Given the description of an element on the screen output the (x, y) to click on. 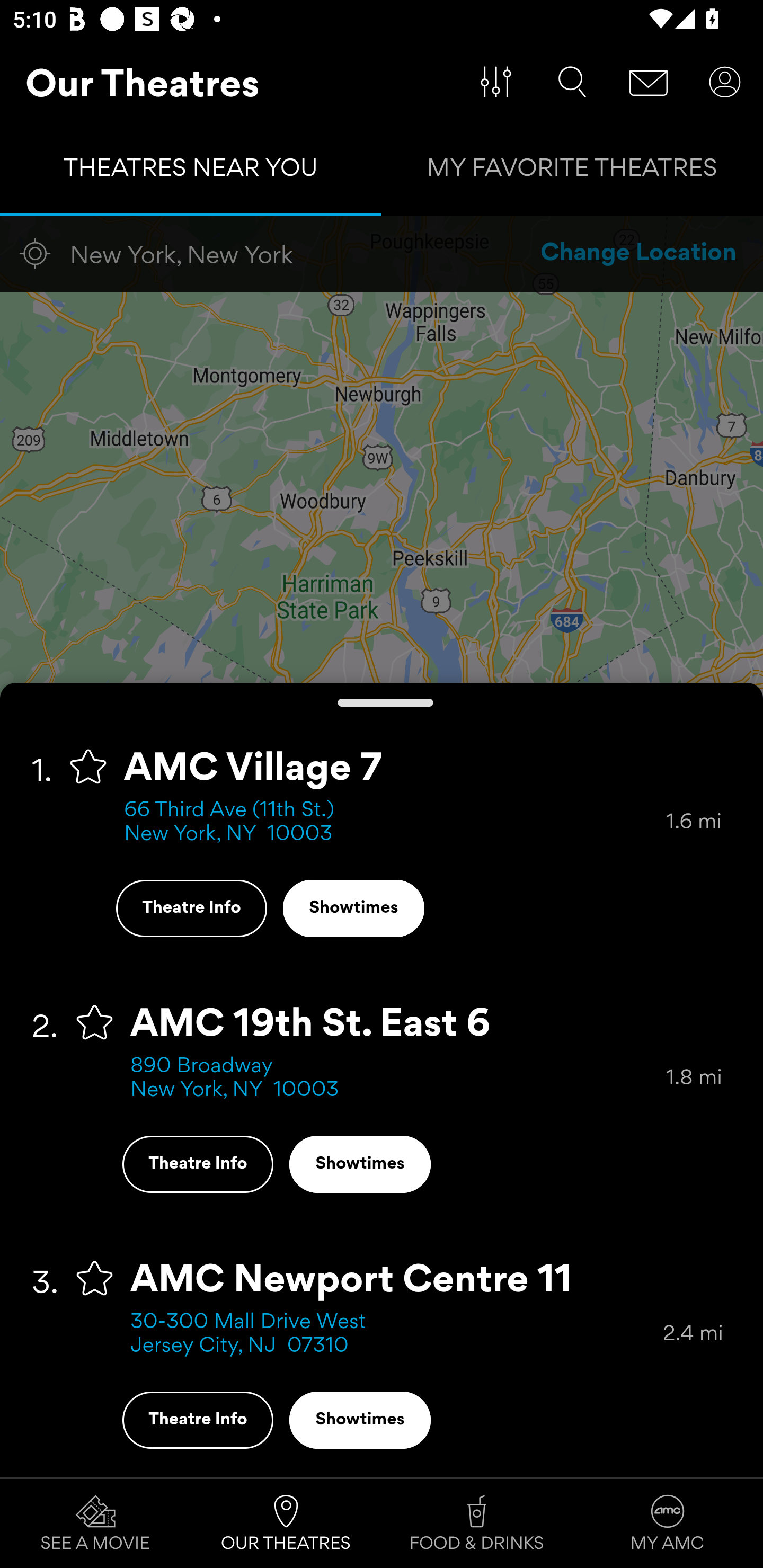
Filter Theatres (495, 82)
Search (572, 82)
Message Center (648, 82)
User Account (724, 82)
THEATRES NEAR YOU
Tab 1 of 2 (190, 171)
MY FAVORITE THEATRES
Tab 2 of 2 (572, 171)
66 Third Ave (11th St.)  
New York, NY  10003 (394, 822)
Theatre Info (191, 908)
Showtimes (353, 908)
890 Broadway  
New York, NY  10003 (398, 1078)
Theatre Info (197, 1163)
Showtimes (360, 1163)
30-300 Mall Drive West  
Jersey City, NJ  07310 (396, 1333)
Theatre Info (197, 1419)
Showtimes (360, 1419)
SEE A MOVIE
Tab 1 of 4 (95, 1523)
OUR THEATRES
Tab 2 of 4 (285, 1523)
FOOD & DRINKS
Tab 3 of 4 (476, 1523)
MY AMC
Tab 4 of 4 (667, 1523)
